Given the description of an element on the screen output the (x, y) to click on. 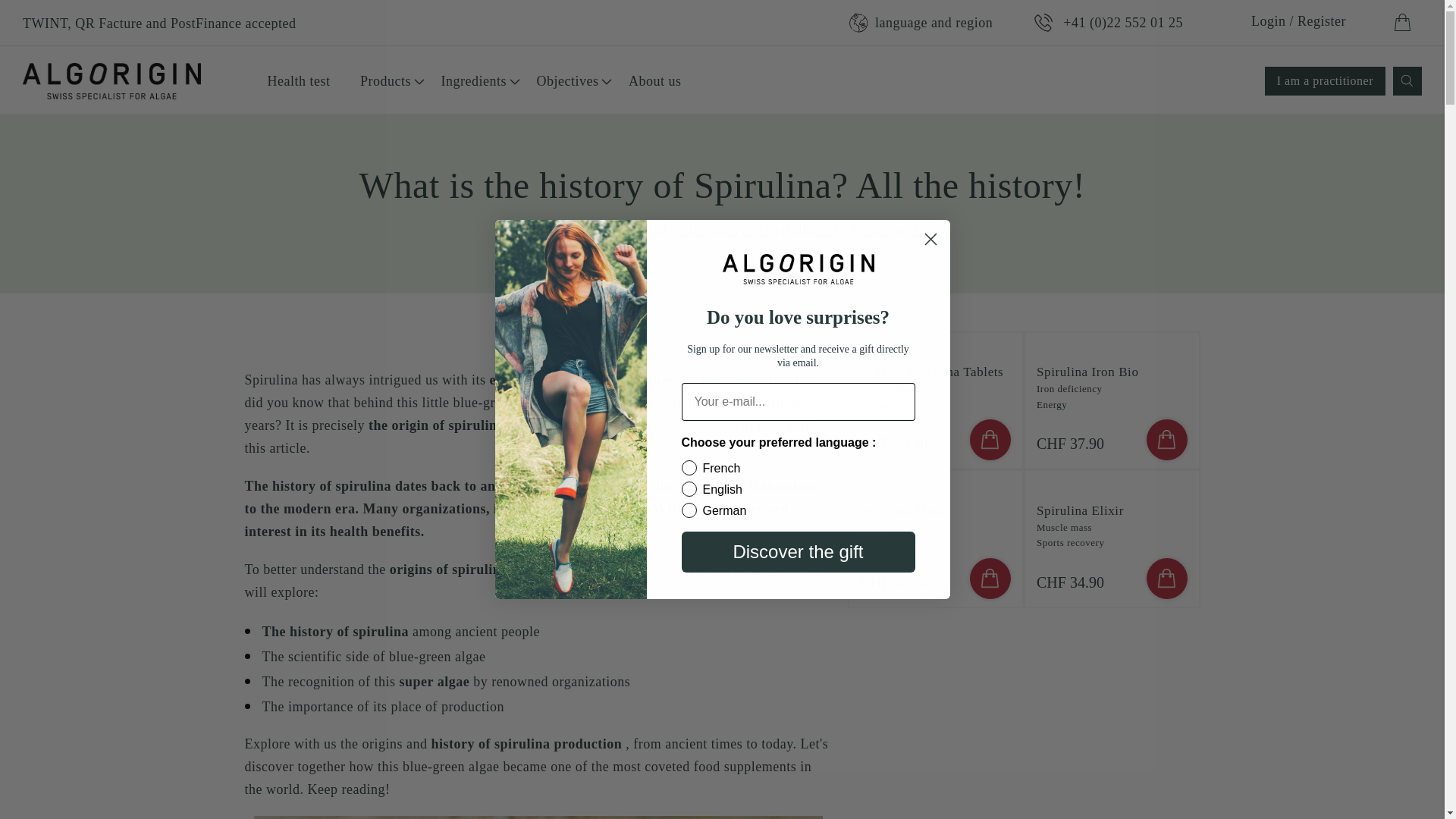
Close dialog 1 (930, 239)
Health test (298, 80)
Products (385, 80)
Skip to content (26, 11)
TWINT, QR Facture and PostFinance accepted (160, 23)
Free delivery from 69CHF (100, 23)
